Given the description of an element on the screen output the (x, y) to click on. 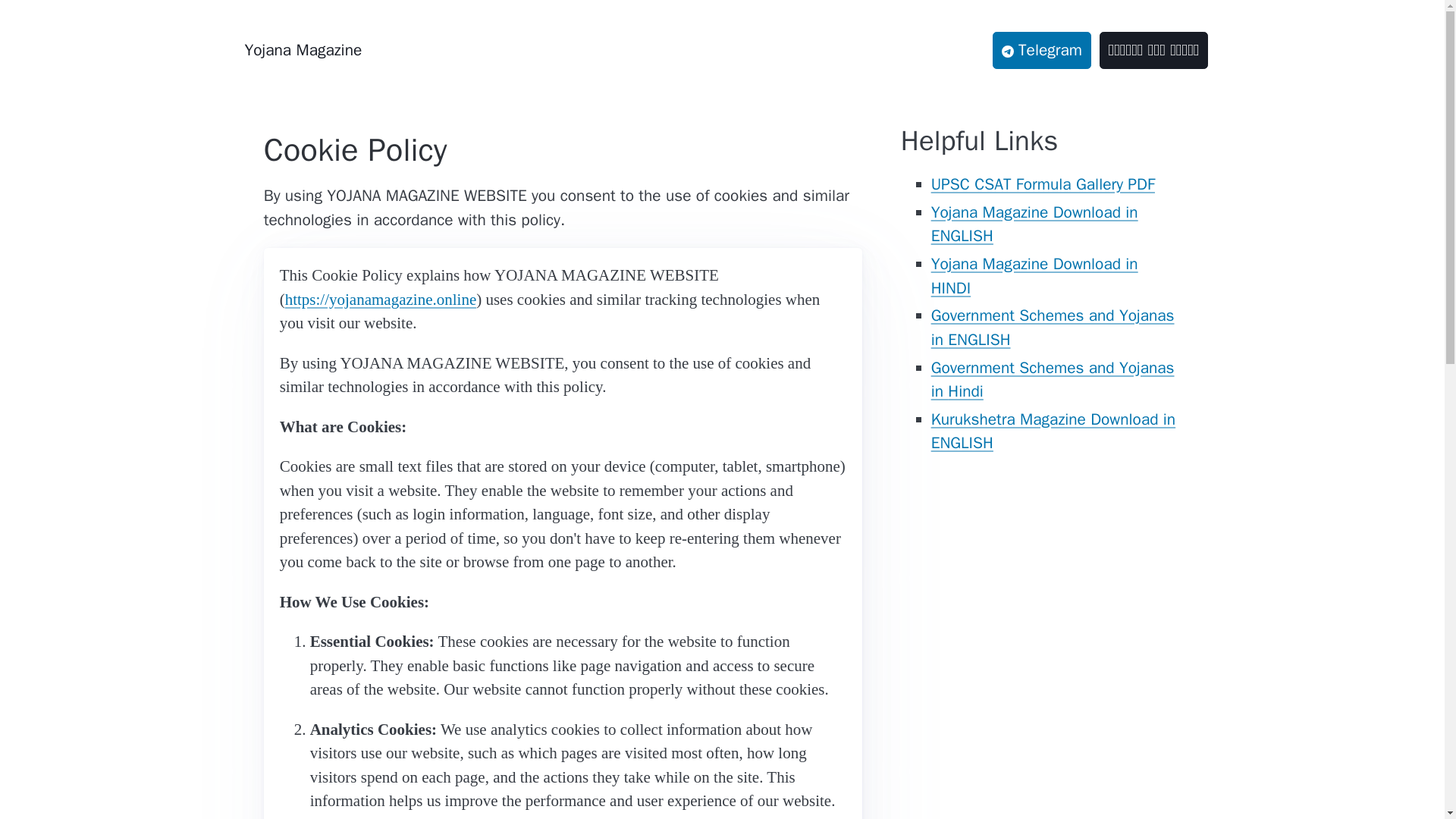
Telegram (1045, 50)
Kurukshetra Magazine Download in ENGLISH (1053, 431)
Yojana Magazine Download in HINDI (1034, 275)
Yojana Magazine (302, 50)
Telegram (1041, 49)
Yojana Magazine Download in ENGLISH (1034, 224)
Government Schemes and Yojanas in Hindi (1052, 379)
UPSC CSAT Formula Gallery PDF (1042, 184)
Government Schemes and Yojanas in ENGLISH (1052, 327)
